Given the description of an element on the screen output the (x, y) to click on. 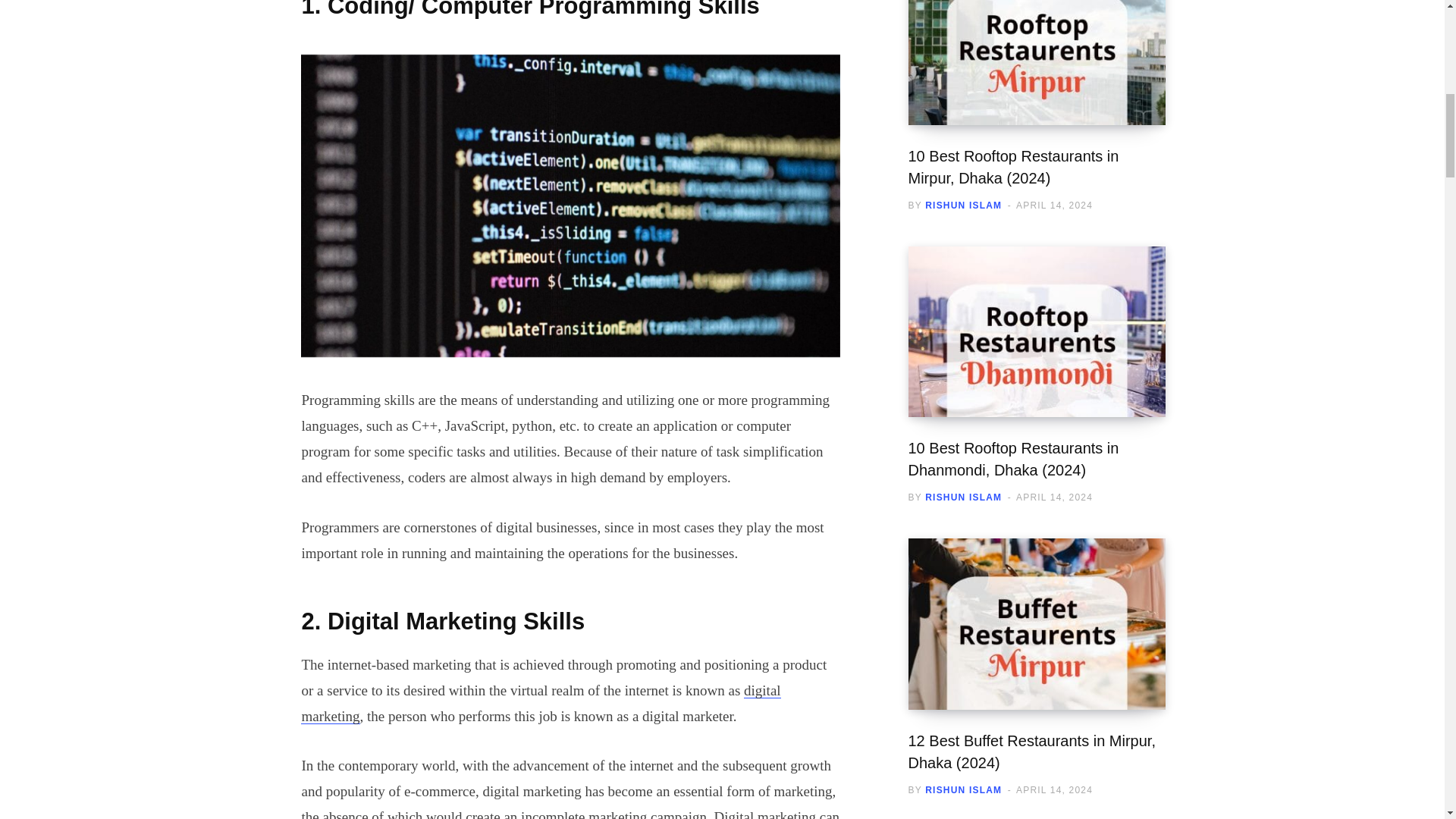
digital marketing (540, 702)
